Given the description of an element on the screen output the (x, y) to click on. 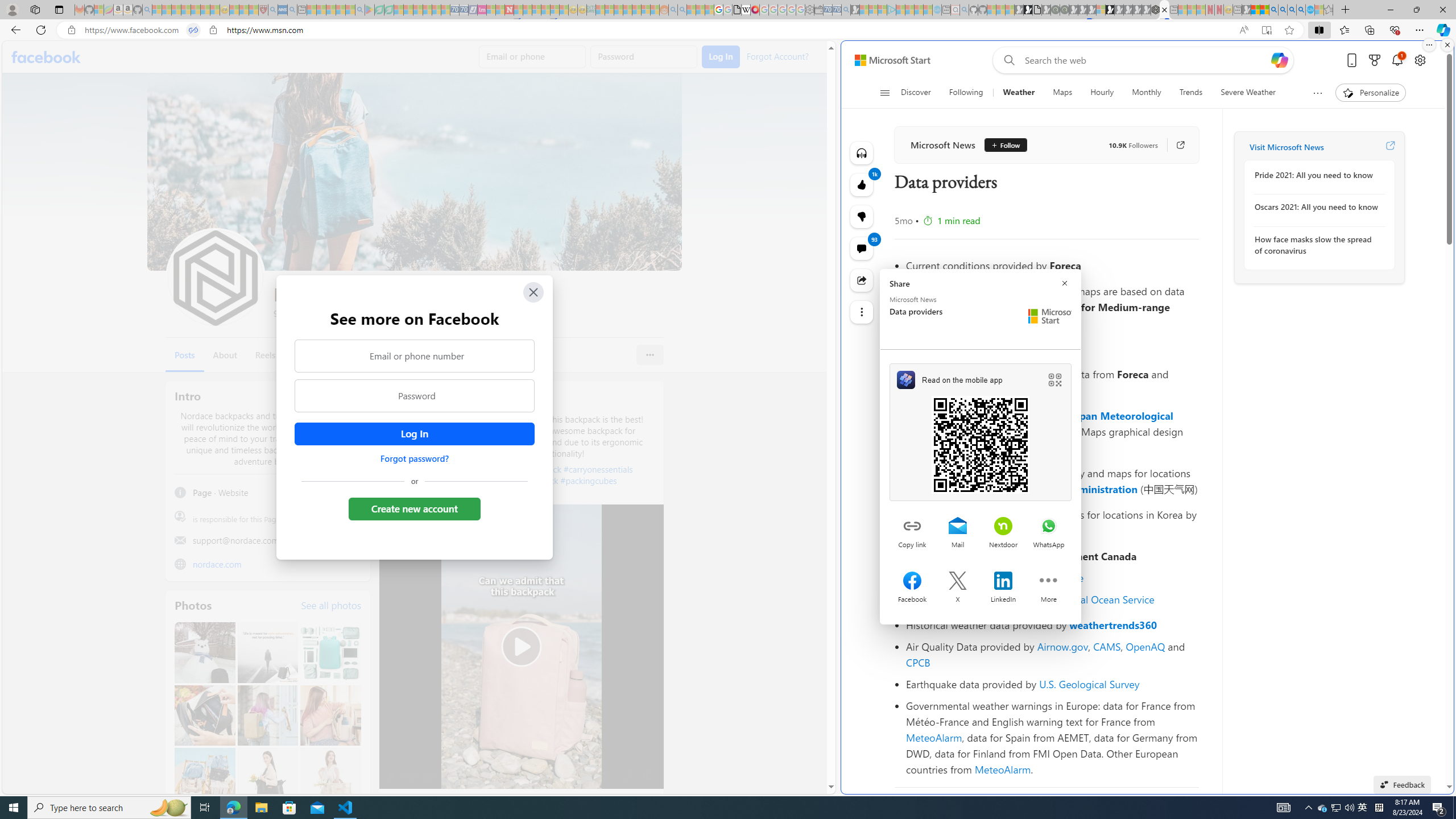
Nowcast.de (1057, 577)
CAMS (1107, 646)
MeteoAlarm (1002, 769)
View comments 93 Comment (861, 248)
